Given the description of an element on the screen output the (x, y) to click on. 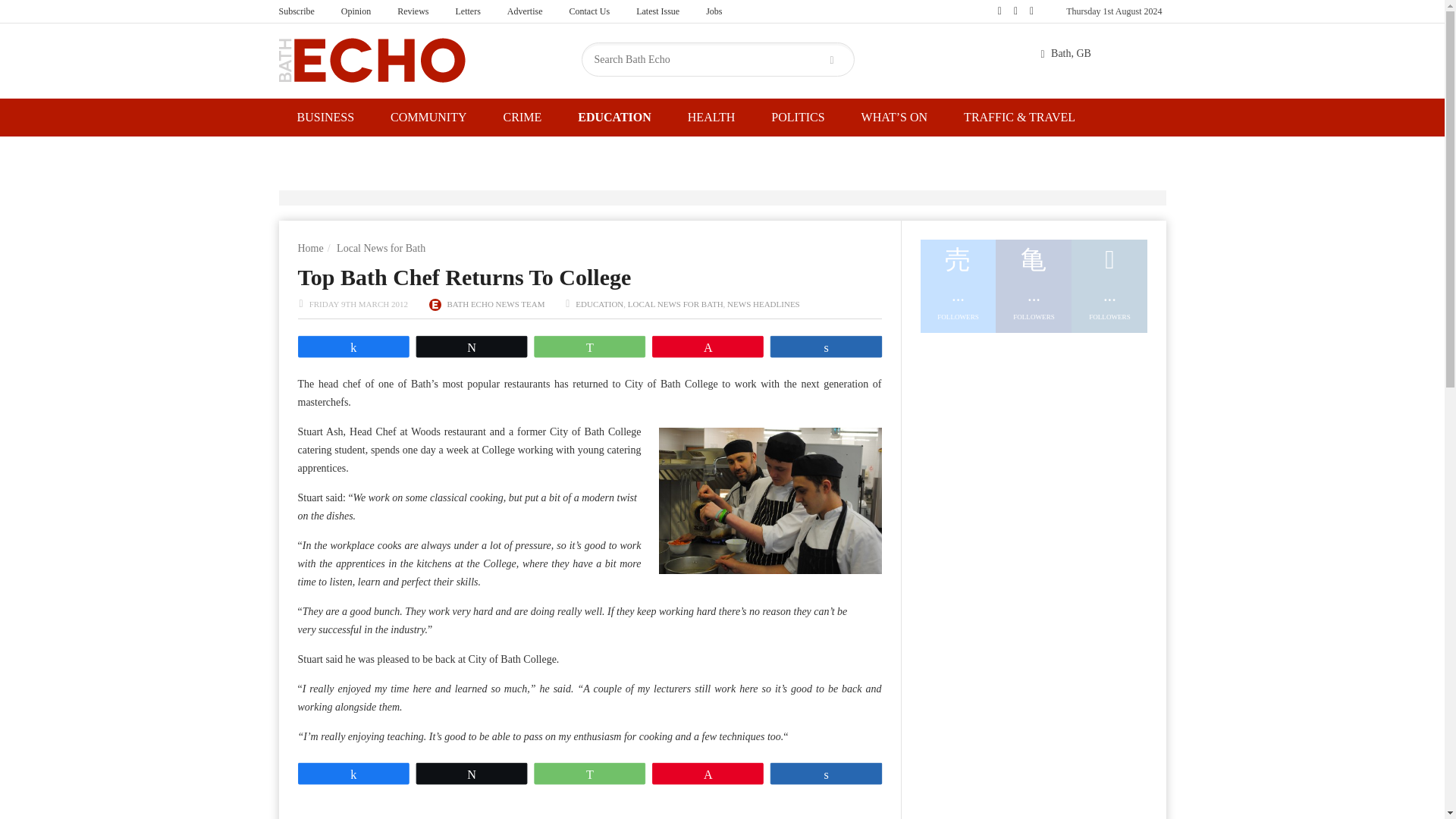
Local News for Bath (380, 247)
CRIME (522, 116)
BATH ECHO NEWS TEAM (495, 303)
Home (310, 247)
Letters (468, 11)
Jobs (713, 11)
Local News for Bath (380, 247)
EDUCATION (614, 116)
POLITICS (797, 116)
NEWS HEADLINES (762, 303)
View all posts in Local News for Bath (675, 303)
View all posts in Education (599, 303)
Opinion (355, 11)
BUSINESS (325, 116)
LOCAL NEWS FOR BATH (675, 303)
